Given the description of an element on the screen output the (x, y) to click on. 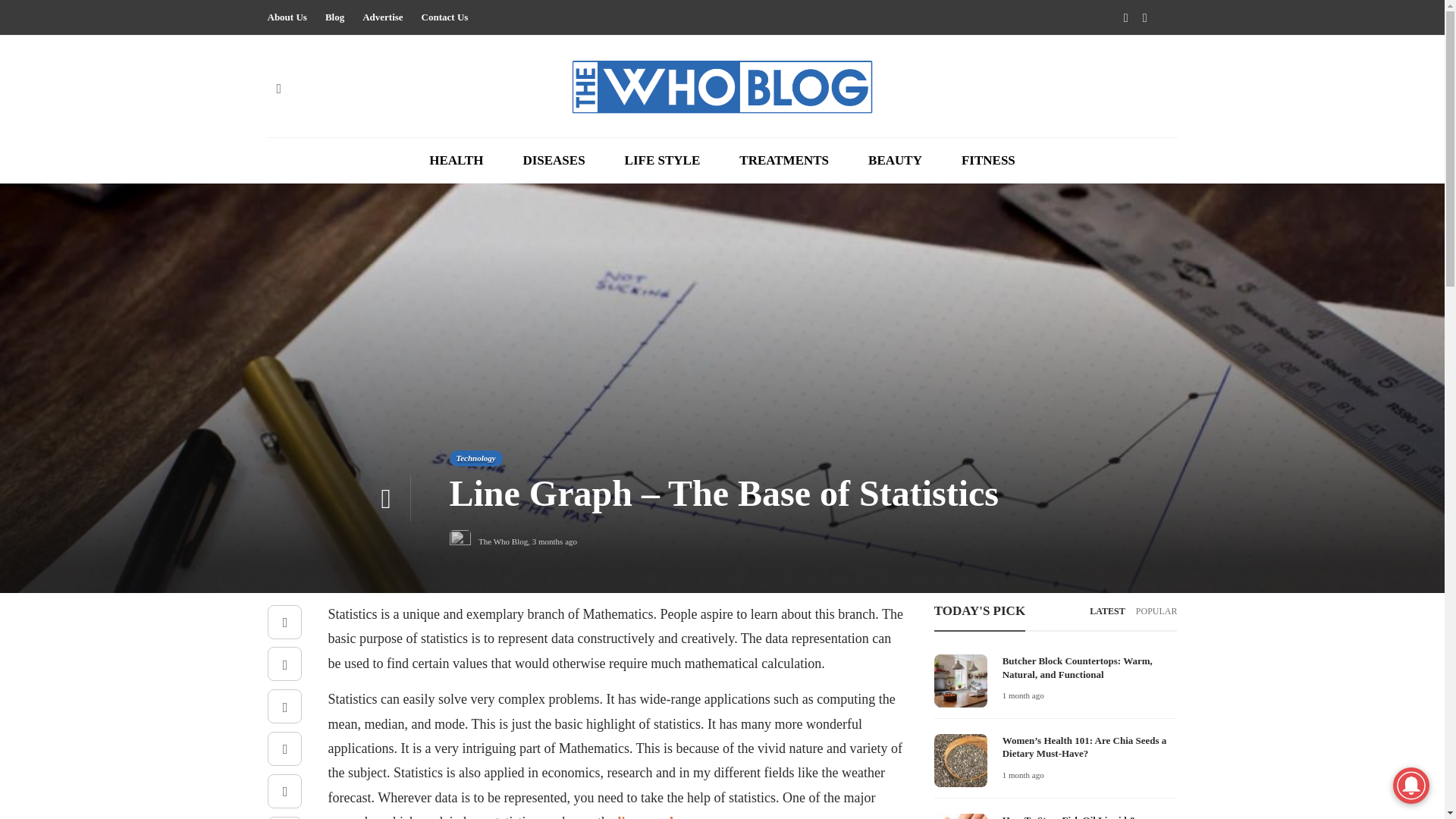
BEAUTY (894, 160)
Advertise (382, 17)
HEALTH (456, 160)
TREATMENTS (783, 160)
Blog (333, 17)
3 months ago (554, 541)
DISEASES (553, 160)
FITNESS (987, 160)
line graph (647, 816)
Technology (475, 458)
LIFE STYLE (662, 160)
Contact Us (445, 17)
About Us (285, 17)
The Who Blog (503, 541)
